Given the description of an element on the screen output the (x, y) to click on. 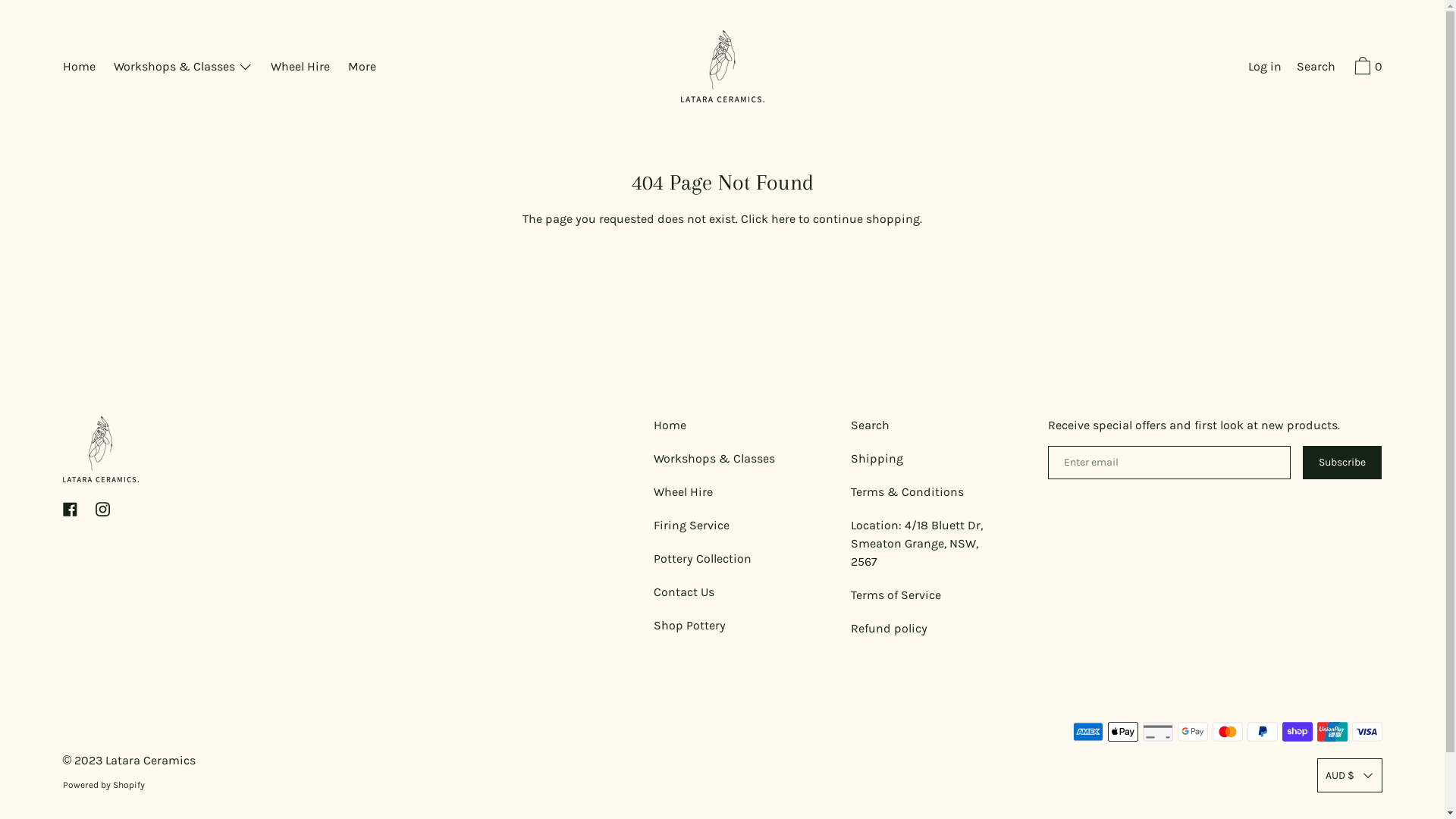
Subscribe Element type: text (1341, 462)
Facebook Element type: text (69, 509)
Wheel Hire Element type: text (683, 491)
AUD $ Element type: text (1348, 775)
Terms & Conditions Element type: text (907, 491)
Log in Element type: text (1264, 67)
Workshops & Classes Element type: text (714, 458)
Workshops & Classes Element type: text (183, 67)
Location: 4/18 Bluett Dr, Smeaton Grange, NSW, 2567 Element type: text (918, 543)
Latara Ceramics Element type: text (150, 760)
Instagram Element type: text (102, 509)
here Element type: text (783, 218)
Refund policy Element type: text (889, 628)
Firing Service Element type: text (691, 525)
Home Element type: text (78, 67)
Wheel Hire Element type: text (300, 67)
Powered by Shopify Element type: text (103, 784)
Shipping Element type: text (876, 458)
Home Element type: text (669, 425)
Terms of Service Element type: text (895, 594)
Search Element type: text (1316, 67)
0 Element type: text (1366, 67)
More Element type: text (361, 67)
Shop Pottery Element type: text (689, 625)
Search Element type: text (870, 425)
Pottery Collection Element type: text (702, 558)
Contact Us Element type: text (683, 591)
